Given the description of an element on the screen output the (x, y) to click on. 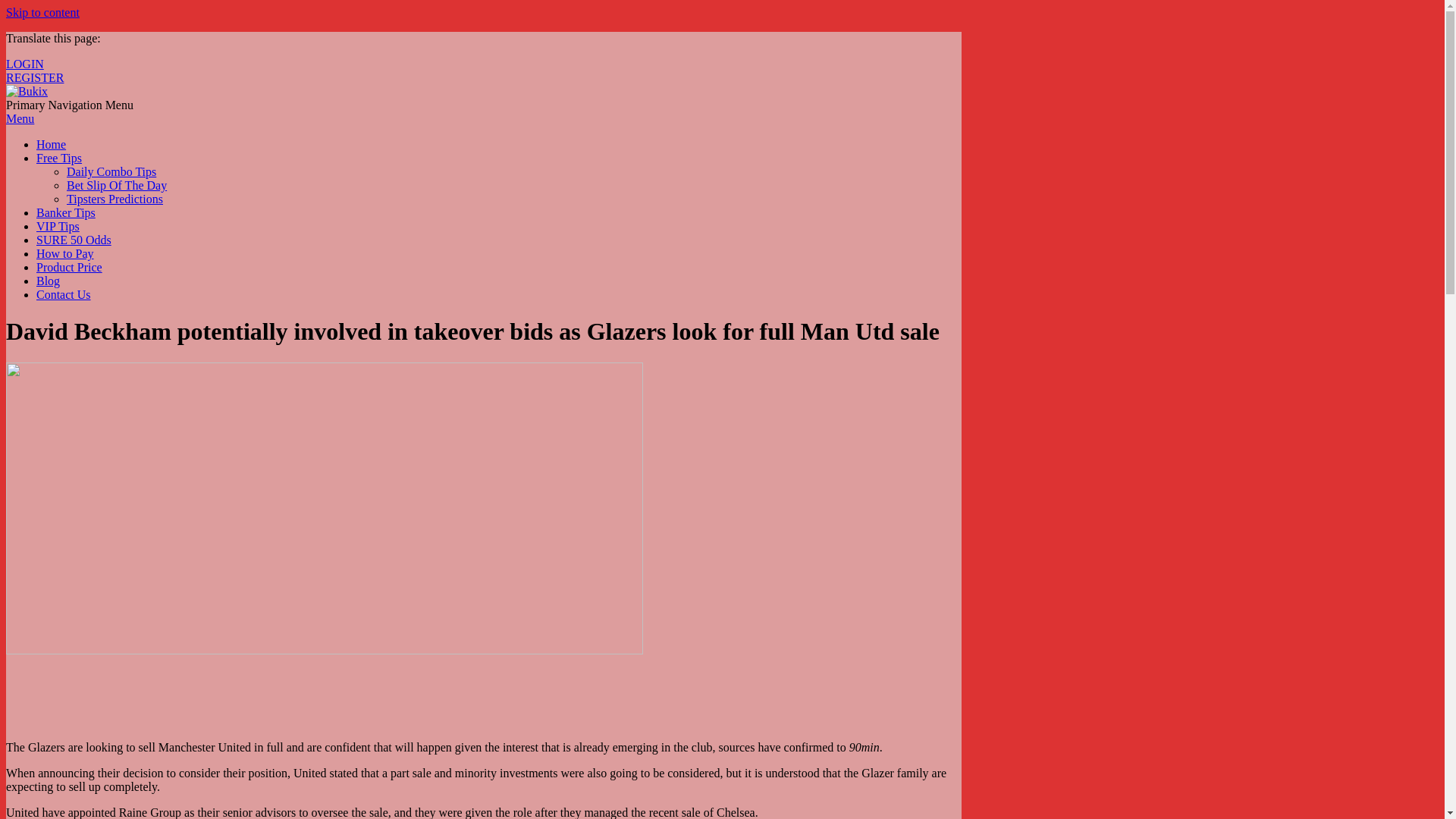
How to Pay (65, 253)
VIP Tips (58, 226)
Daily Combo Tips (110, 171)
Free Tips (58, 157)
Product Price (68, 267)
Bet Slip Of The Day (116, 185)
Blog (47, 280)
Menu (19, 118)
REGISTER (34, 77)
Skip to content (42, 11)
